Given the description of an element on the screen output the (x, y) to click on. 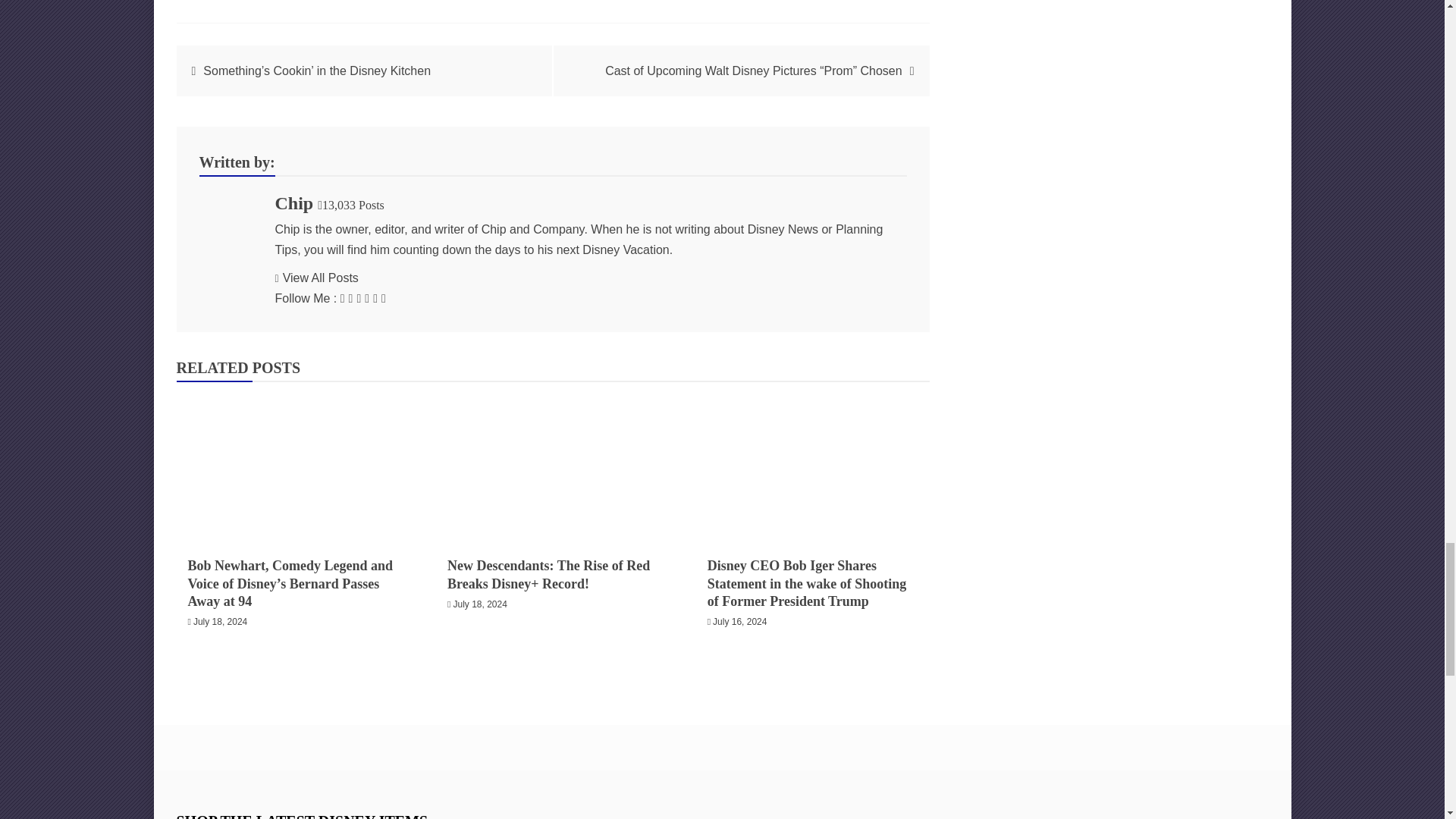
Posts by Chip (294, 202)
